Given the description of an element on the screen output the (x, y) to click on. 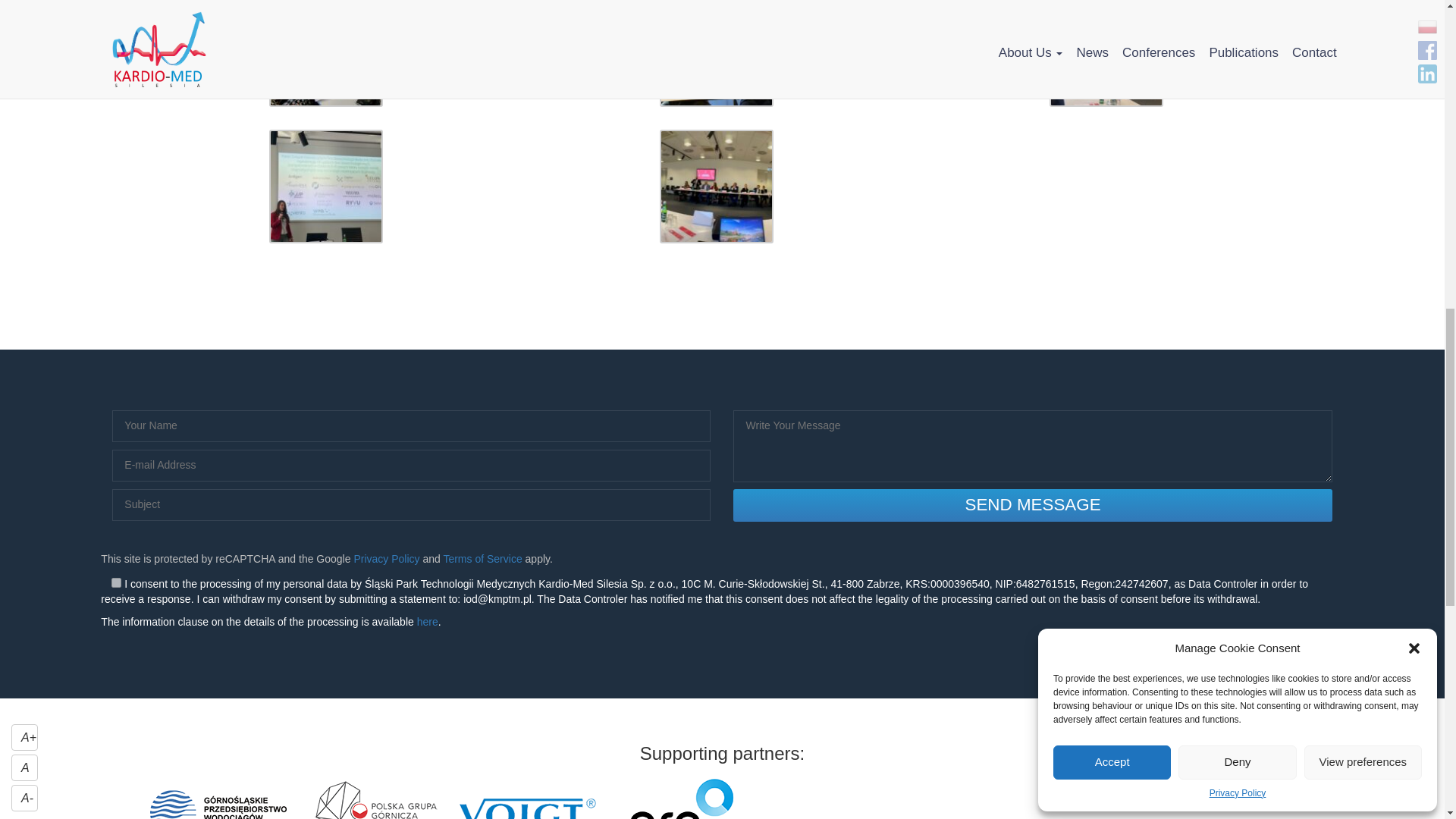
Send message (1032, 504)
here (427, 621)
Privacy Policy (386, 558)
1 (116, 583)
Send message (1032, 504)
Terms of Service (481, 558)
